Given the description of an element on the screen output the (x, y) to click on. 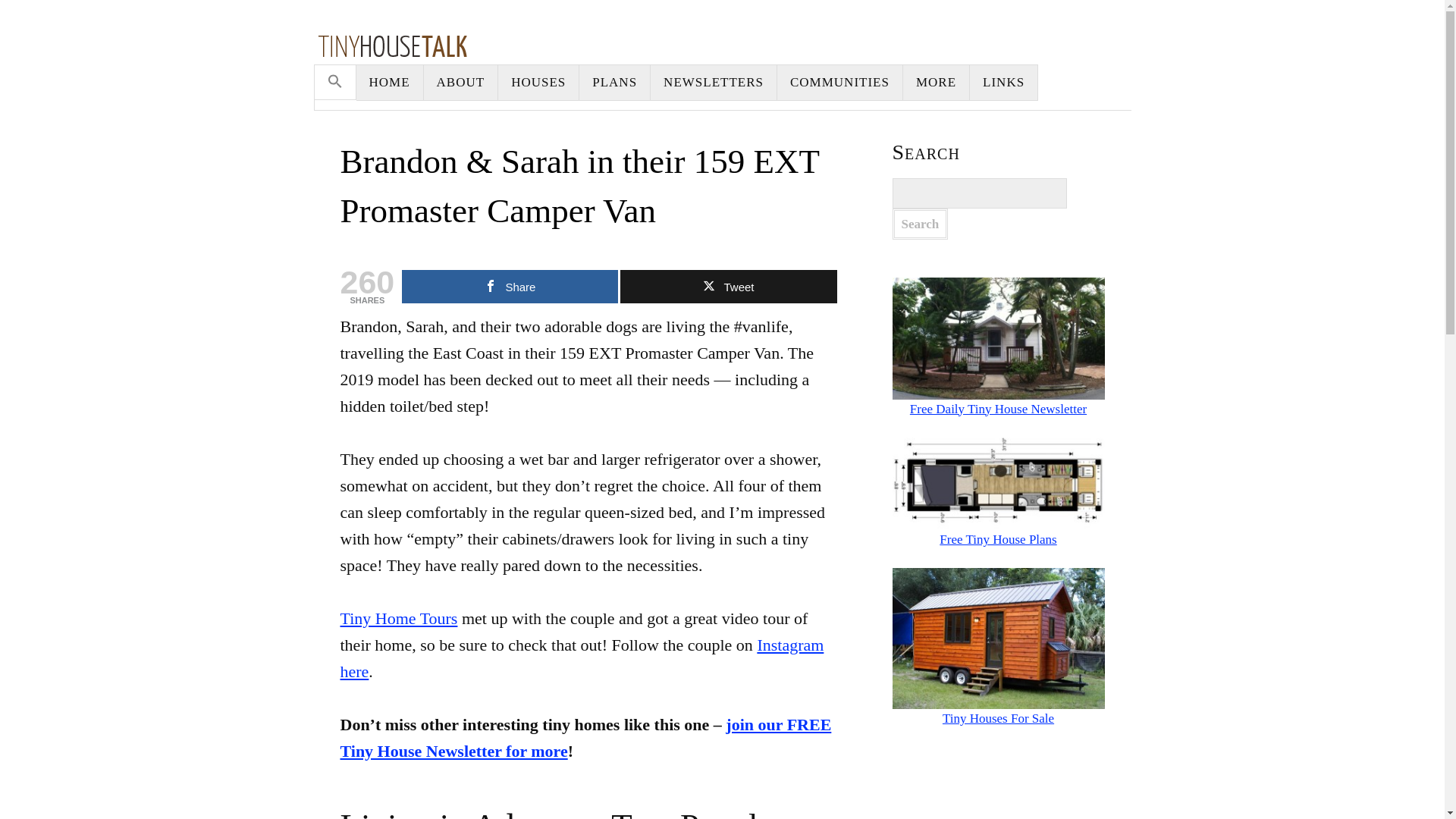
COMMUNITIES (839, 82)
MORE (935, 82)
Search (919, 223)
HOME (389, 82)
HOUSES (538, 82)
ABOUT (461, 82)
NEWSLETTERS (713, 82)
PLANS (614, 82)
